Given the description of an element on the screen output the (x, y) to click on. 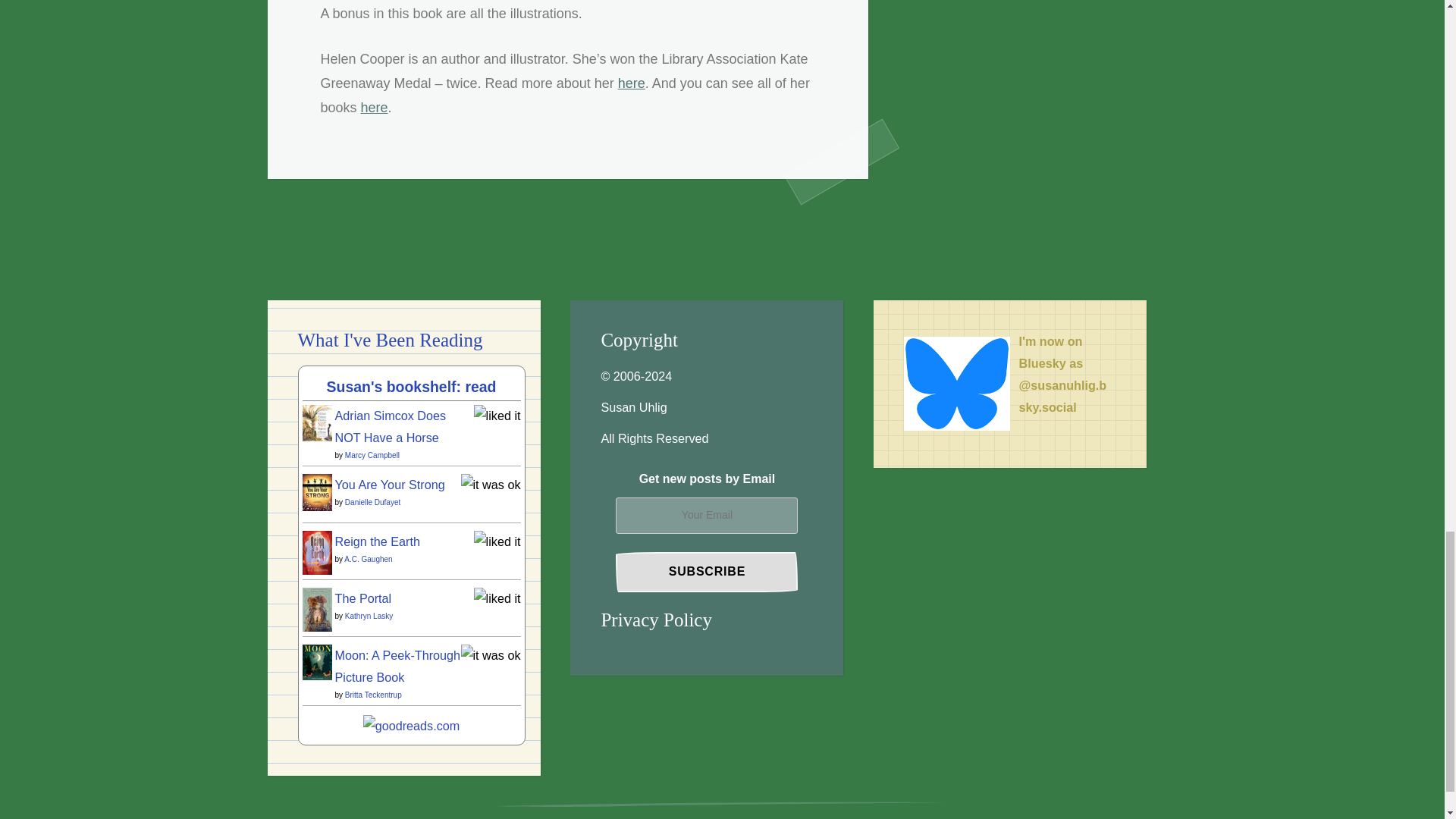
You Are Your Strong (316, 506)
Susan's bookshelf: read (411, 386)
here (631, 83)
liked it (497, 415)
Subscribe (706, 572)
liked it (497, 540)
Adrian Simcox Does NOT Have a Horse (316, 437)
here (374, 107)
it was ok (491, 484)
liked it (497, 598)
